Given the description of an element on the screen output the (x, y) to click on. 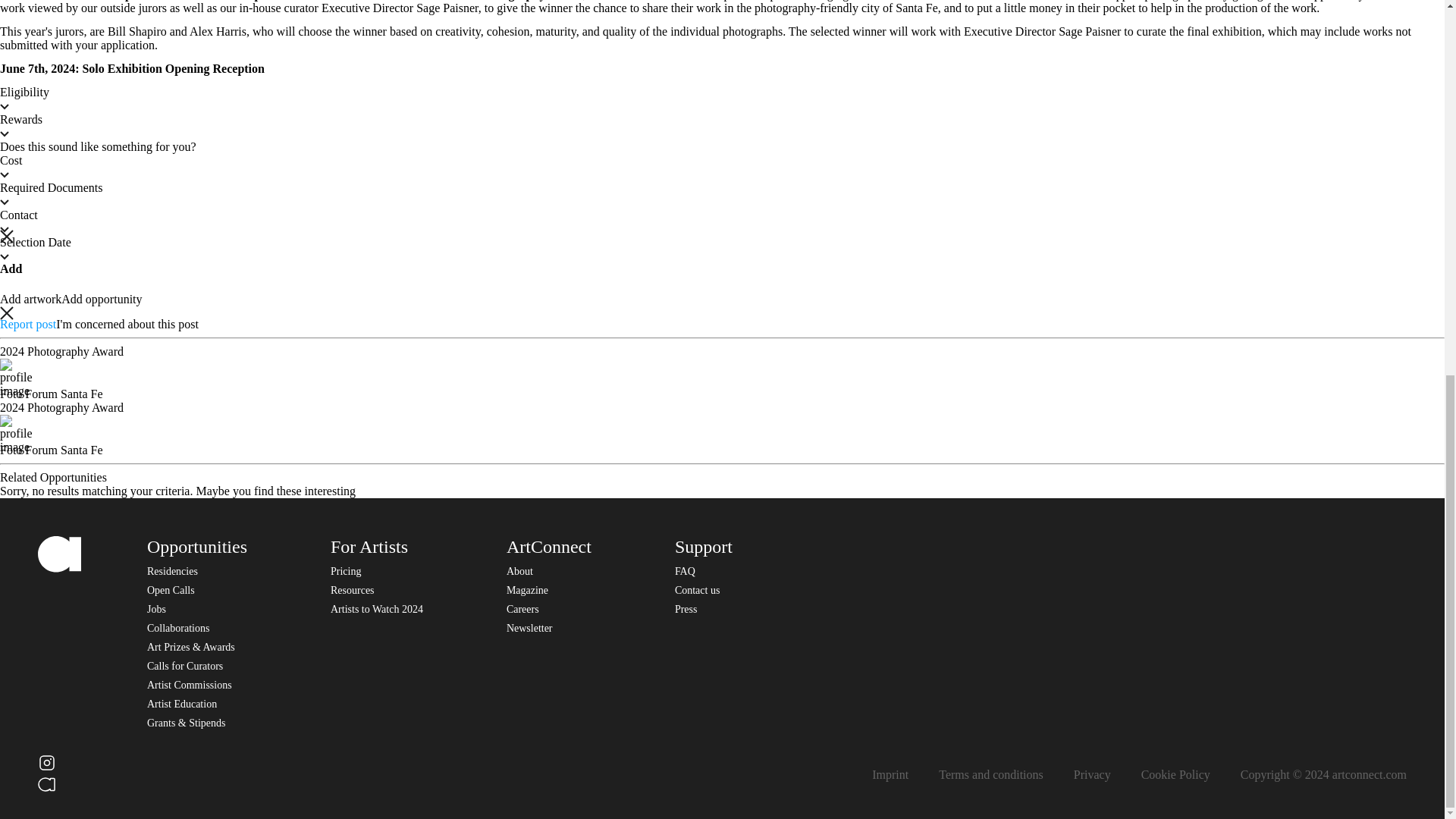
Careers (522, 609)
Add artwork (30, 298)
Jobs (156, 609)
Collaborations (178, 627)
Artist Commissions (189, 685)
Contact us (697, 590)
Residencies (172, 571)
Add opportunity (101, 298)
Report post (28, 323)
Calls for Curators (184, 665)
Press (686, 609)
Open Calls (171, 590)
About (519, 571)
Pricing (345, 571)
Newsletter (529, 627)
